Given the description of an element on the screen output the (x, y) to click on. 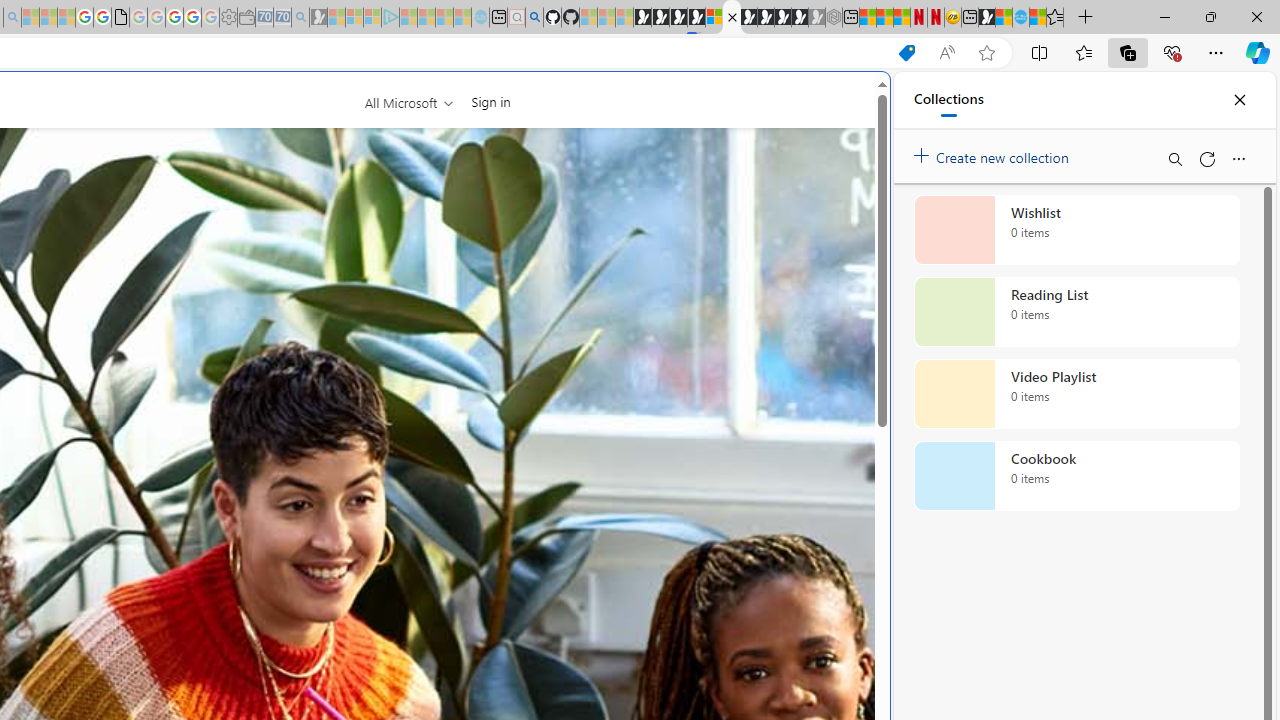
More options menu (1238, 158)
Tabs you've opened (276, 265)
